Given the description of an element on the screen output the (x, y) to click on. 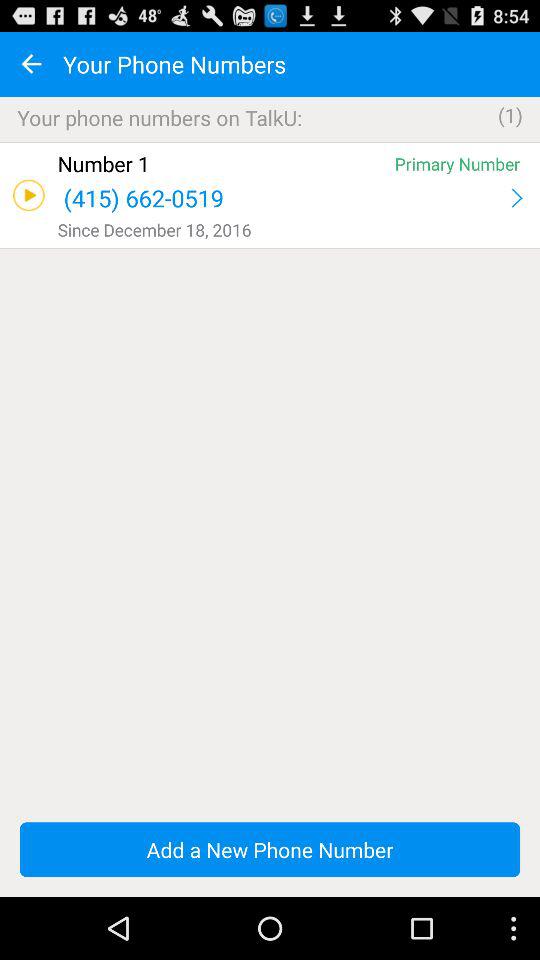
choose icon next to the number 1 (457, 163)
